Given the description of an element on the screen output the (x, y) to click on. 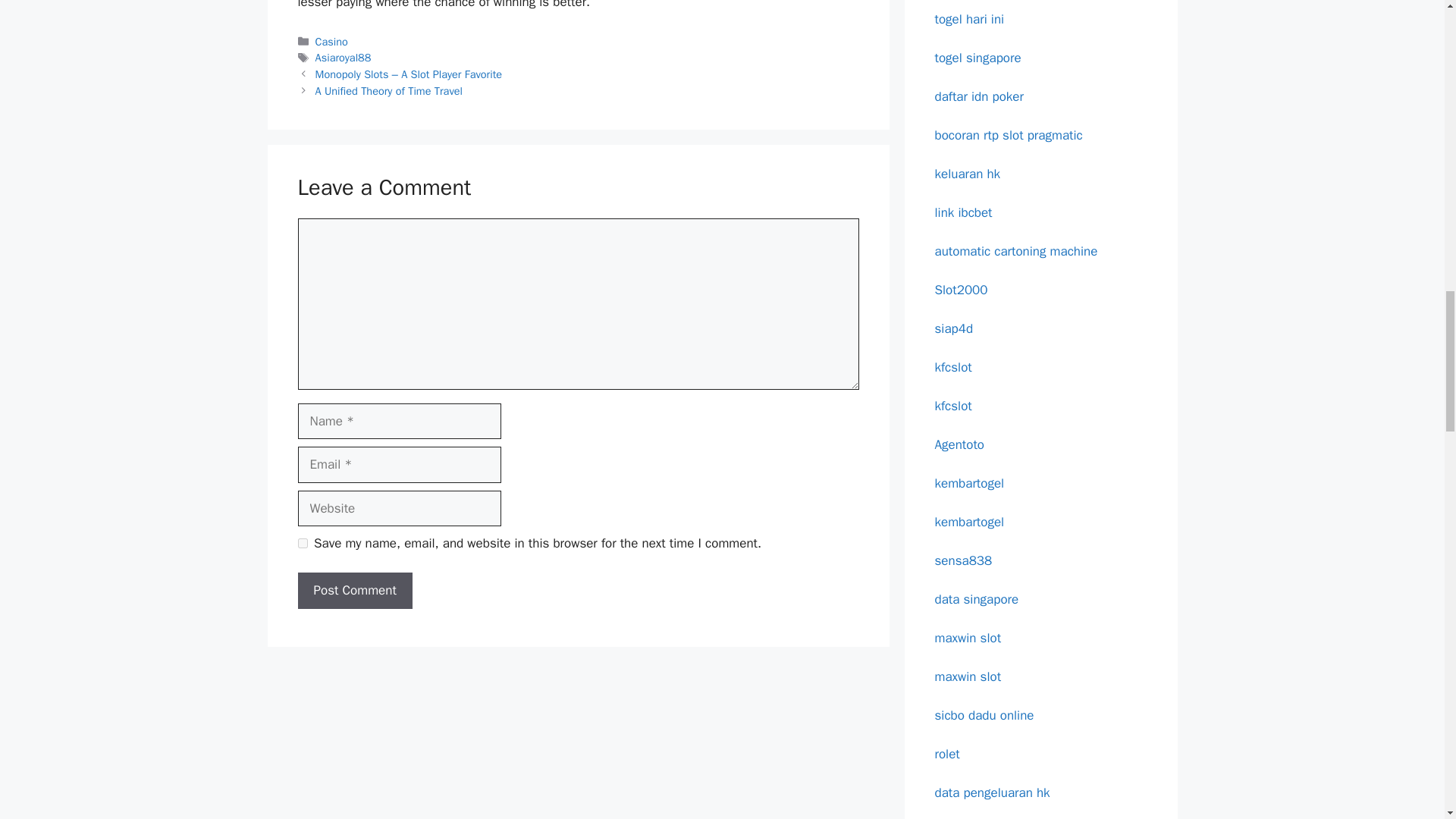
Casino (331, 41)
Post Comment (354, 590)
A Unified Theory of Time Travel (389, 90)
Post Comment (354, 590)
Asiaroyal88 (343, 57)
yes (302, 542)
